Given the description of an element on the screen output the (x, y) to click on. 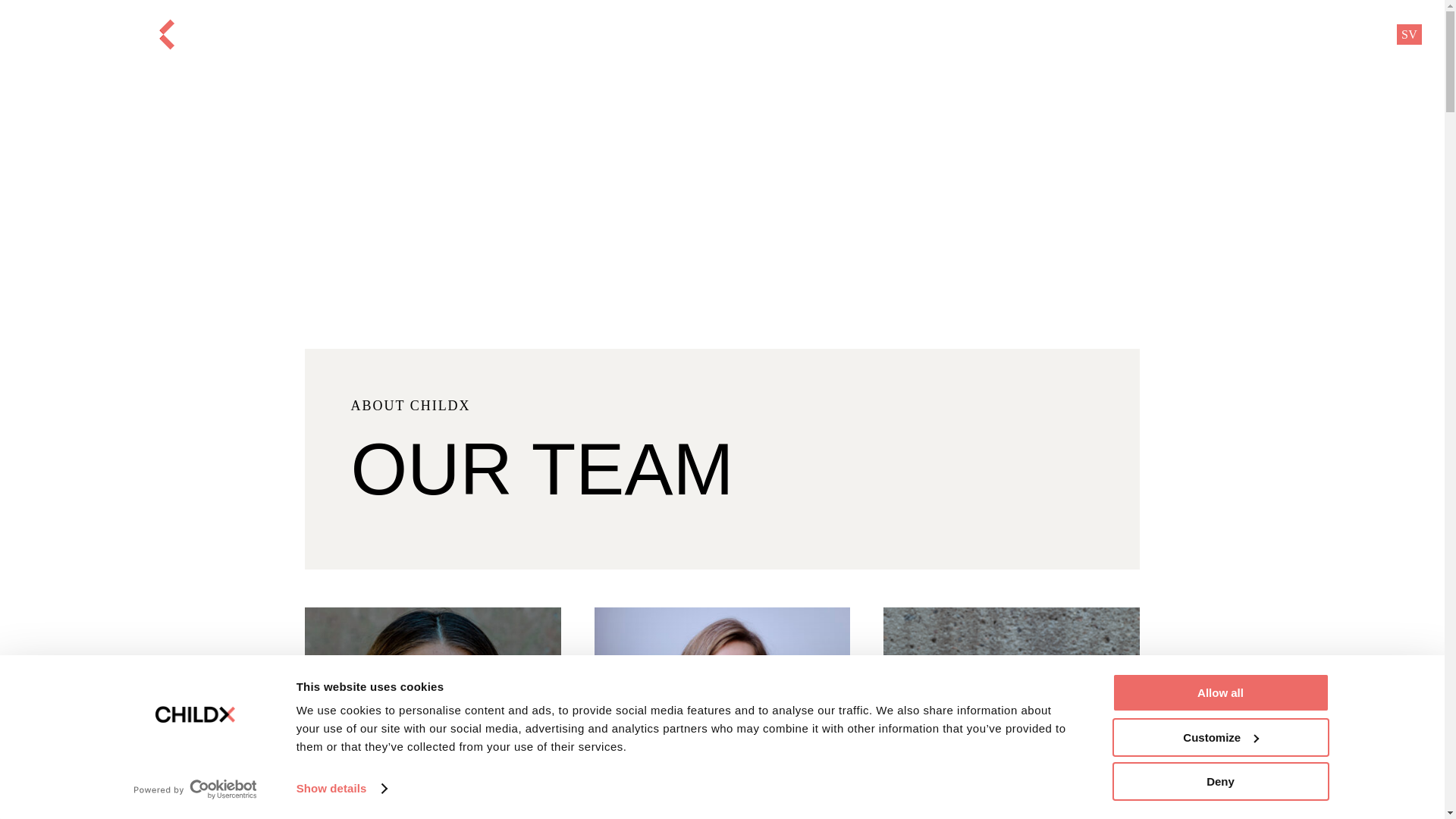
Gabriella press - ChildX (1010, 713)
Deny (1219, 781)
Show details (341, 788)
Customize (1219, 736)
Allow all (1219, 692)
